Given the description of an element on the screen output the (x, y) to click on. 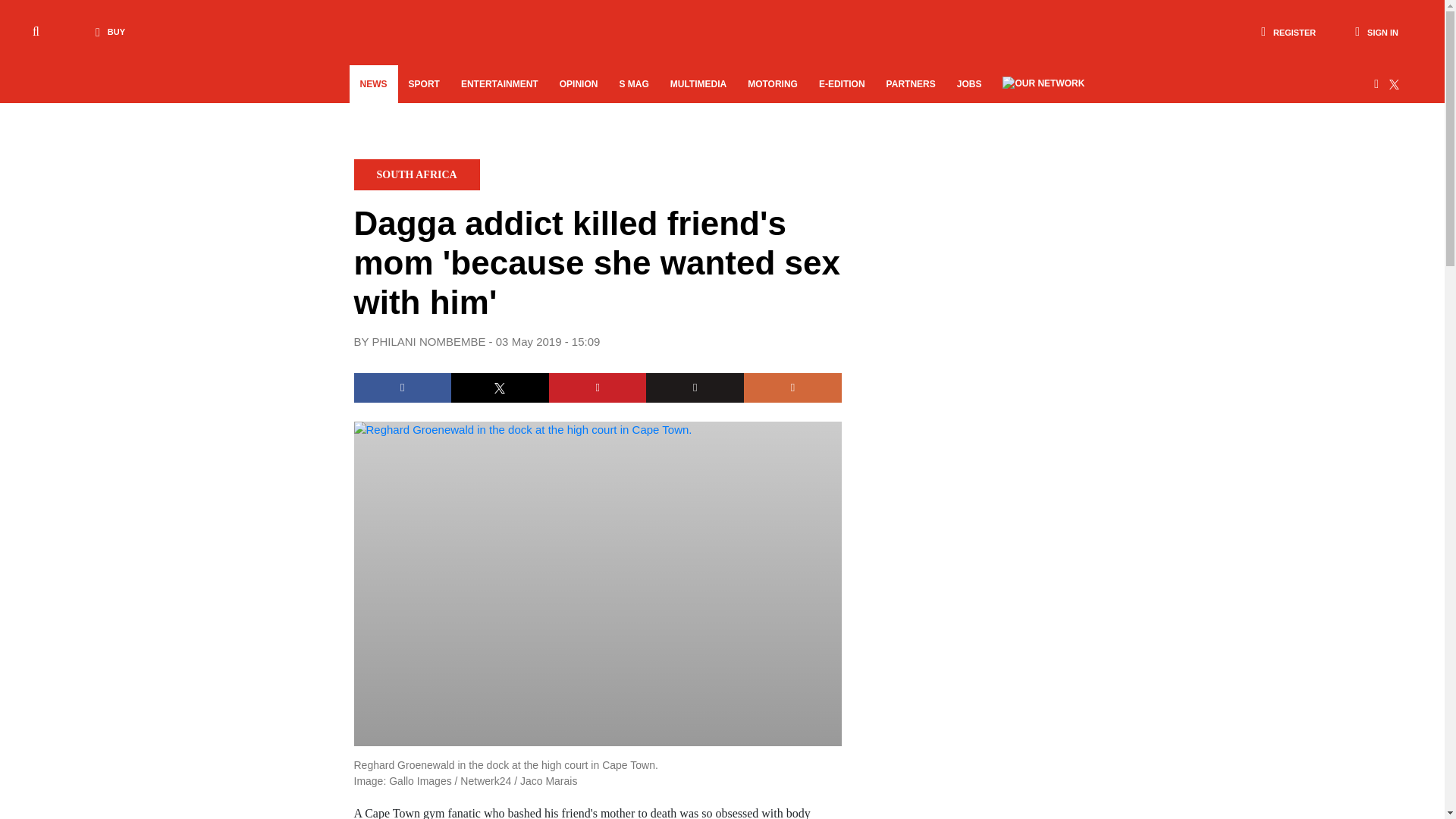
OPINION (578, 84)
JOBS (969, 84)
Our Network (1043, 82)
E-EDITION (842, 84)
ENTERTAINMENT (498, 84)
PARTNERS (911, 84)
S MAG (633, 84)
BUY (106, 32)
NEWS (373, 84)
SPORT (423, 84)
